Given the description of an element on the screen output the (x, y) to click on. 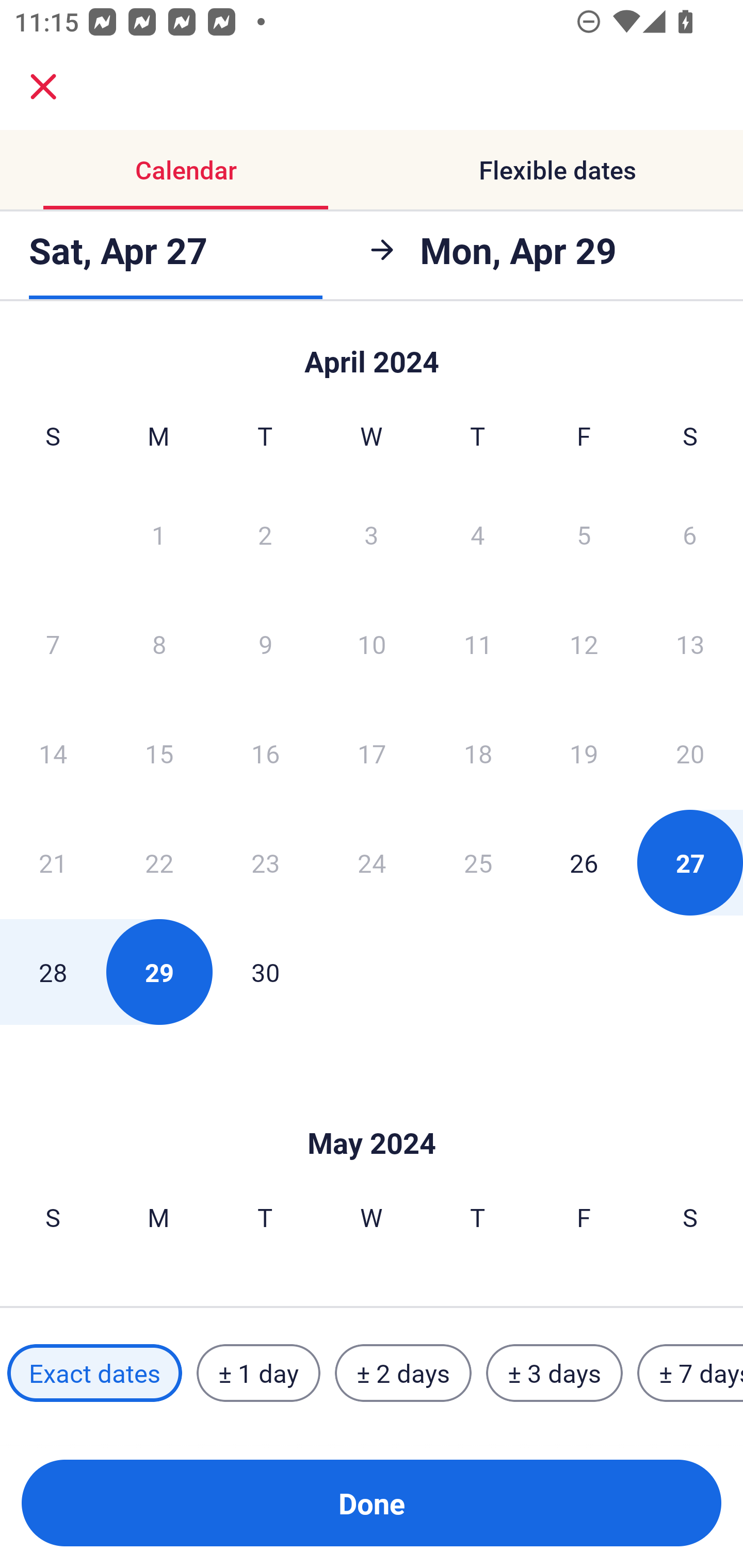
close. (43, 86)
Flexible dates (557, 170)
Skip to Done (371, 352)
1 Monday, April 1, 2024 (158, 534)
2 Tuesday, April 2, 2024 (264, 534)
3 Wednesday, April 3, 2024 (371, 534)
4 Thursday, April 4, 2024 (477, 534)
5 Friday, April 5, 2024 (583, 534)
6 Saturday, April 6, 2024 (689, 534)
7 Sunday, April 7, 2024 (53, 643)
8 Monday, April 8, 2024 (159, 643)
9 Tuesday, April 9, 2024 (265, 643)
10 Wednesday, April 10, 2024 (371, 643)
11 Thursday, April 11, 2024 (477, 643)
12 Friday, April 12, 2024 (584, 643)
13 Saturday, April 13, 2024 (690, 643)
14 Sunday, April 14, 2024 (53, 752)
15 Monday, April 15, 2024 (159, 752)
16 Tuesday, April 16, 2024 (265, 752)
17 Wednesday, April 17, 2024 (371, 752)
18 Thursday, April 18, 2024 (477, 752)
19 Friday, April 19, 2024 (584, 752)
20 Saturday, April 20, 2024 (690, 752)
21 Sunday, April 21, 2024 (53, 862)
22 Monday, April 22, 2024 (159, 862)
23 Tuesday, April 23, 2024 (265, 862)
24 Wednesday, April 24, 2024 (371, 862)
25 Thursday, April 25, 2024 (477, 862)
26 Friday, April 26, 2024 (584, 862)
30 Tuesday, April 30, 2024 (265, 971)
Skip to Done (371, 1112)
Exact dates (94, 1372)
± 1 day (258, 1372)
± 2 days (403, 1372)
± 3 days (553, 1372)
± 7 days (690, 1372)
Done (371, 1502)
